Given the description of an element on the screen output the (x, y) to click on. 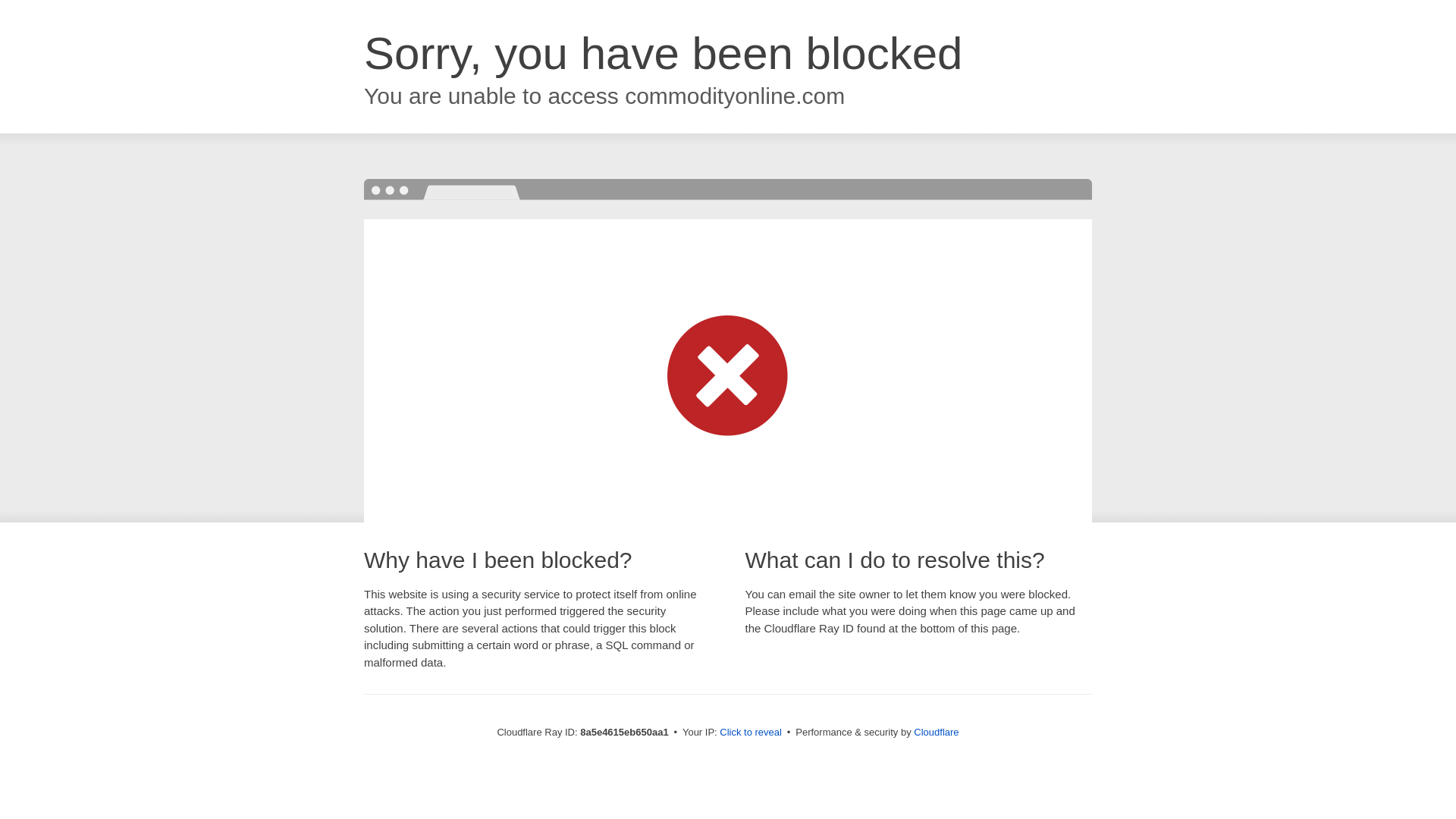
Click to reveal (750, 732)
Cloudflare (936, 731)
